Given the description of an element on the screen output the (x, y) to click on. 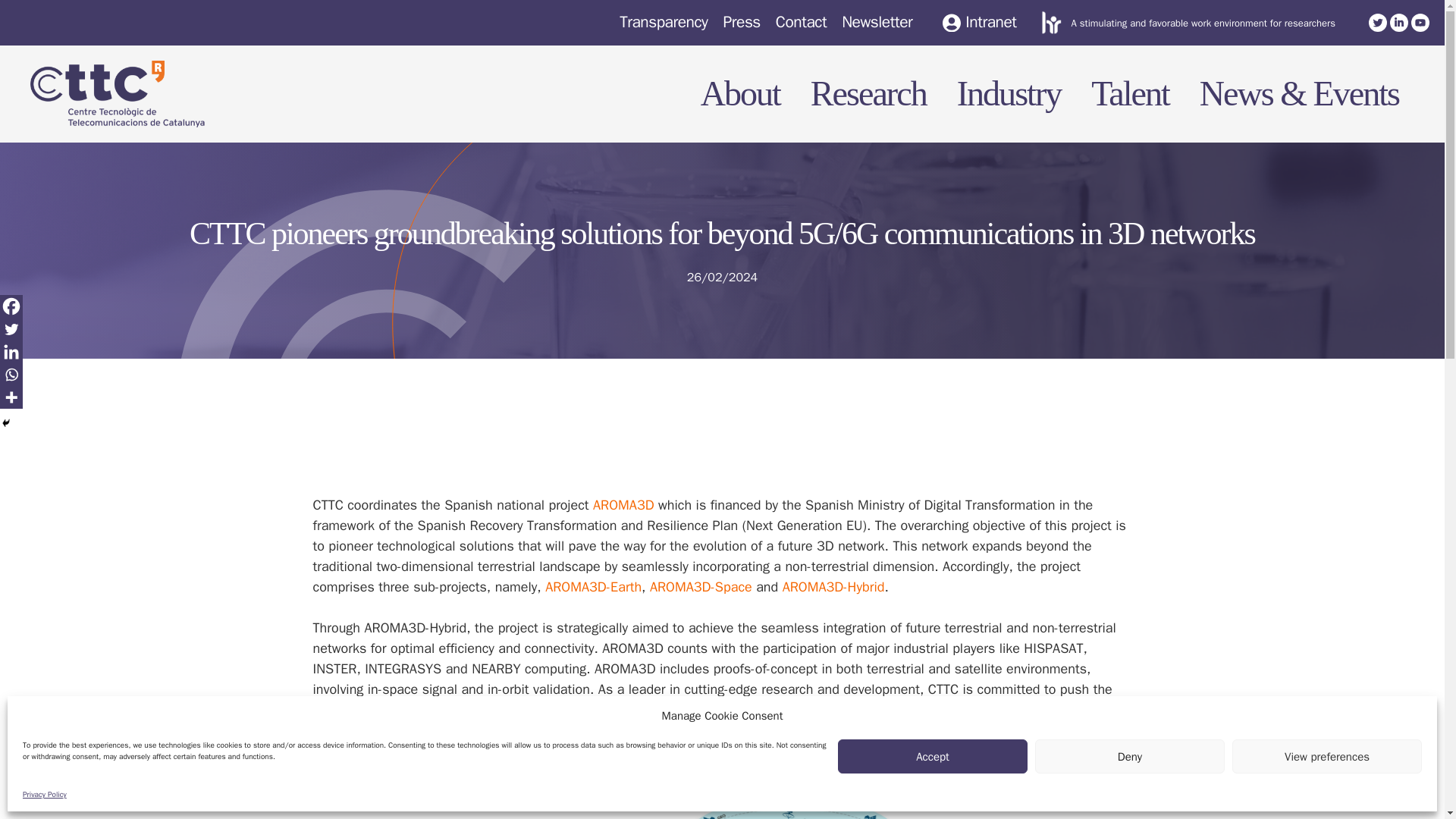
More (11, 396)
Intranet (979, 22)
Privacy Policy (44, 794)
About (732, 82)
Press (741, 21)
YouTube (1419, 22)
Twitter (11, 328)
A stimulating and favorable work environment for researchers (1203, 22)
Hide (5, 422)
LinkedIn (1398, 22)
Contact (801, 21)
Whatsapp (11, 374)
Linkedin (11, 351)
Facebook (11, 305)
Twitter (1377, 22)
